Given the description of an element on the screen output the (x, y) to click on. 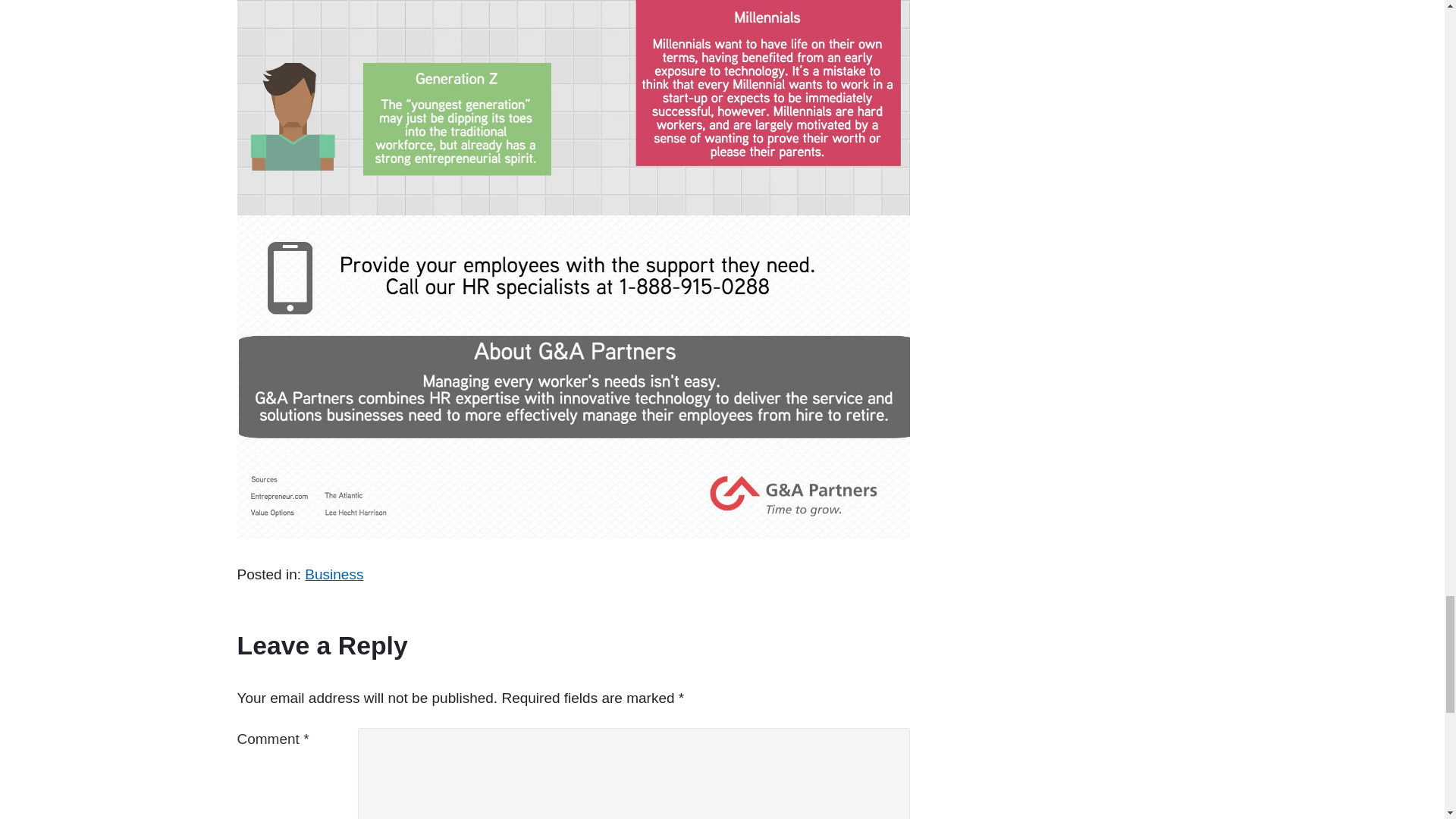
Business (333, 574)
